Given the description of an element on the screen output the (x, y) to click on. 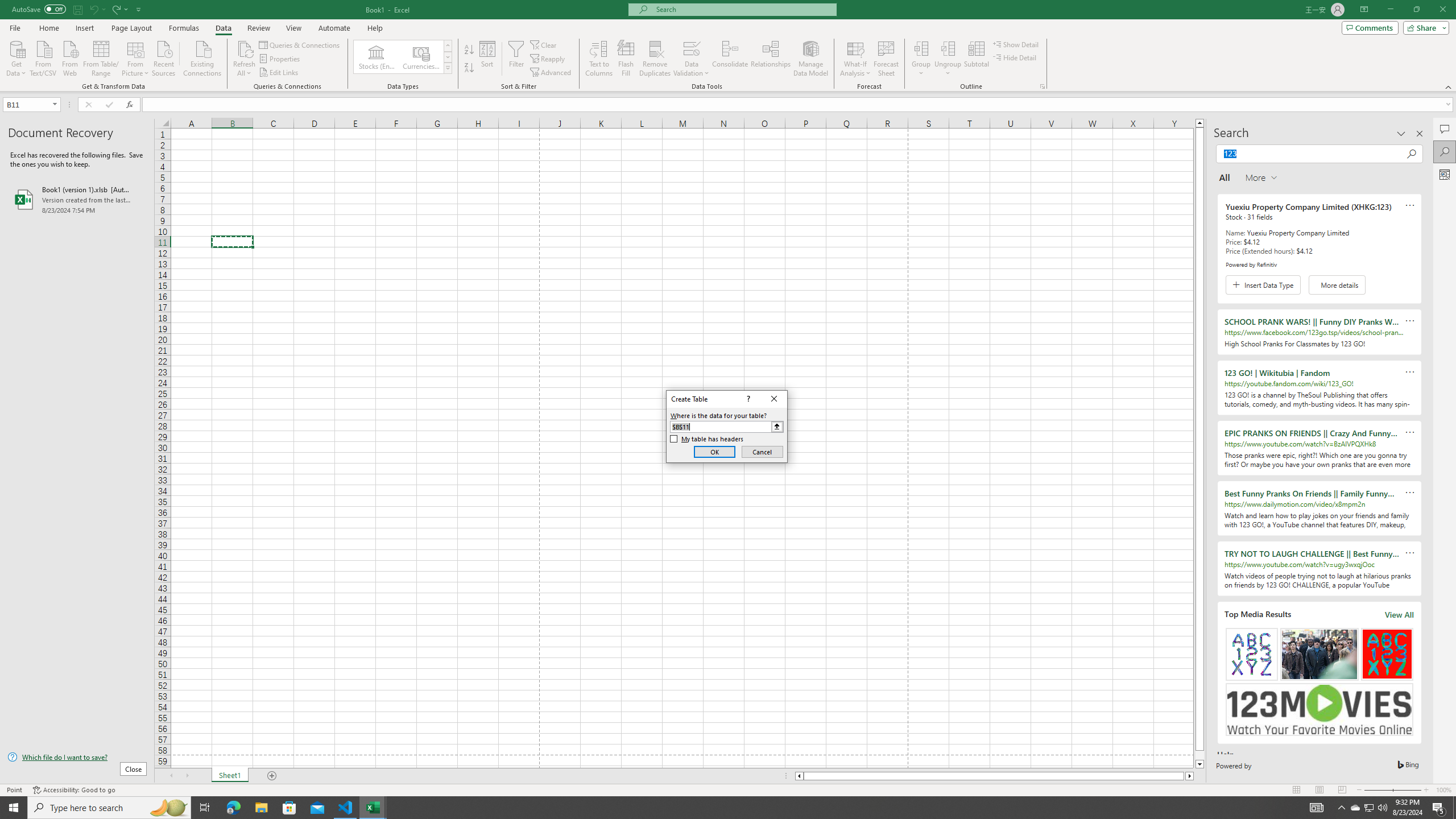
Edit Links (279, 72)
Cancel (762, 451)
Clear (544, 44)
AutoSave (38, 9)
Data Validation... (691, 58)
What-If Analysis (1355, 807)
